Given the description of an element on the screen output the (x, y) to click on. 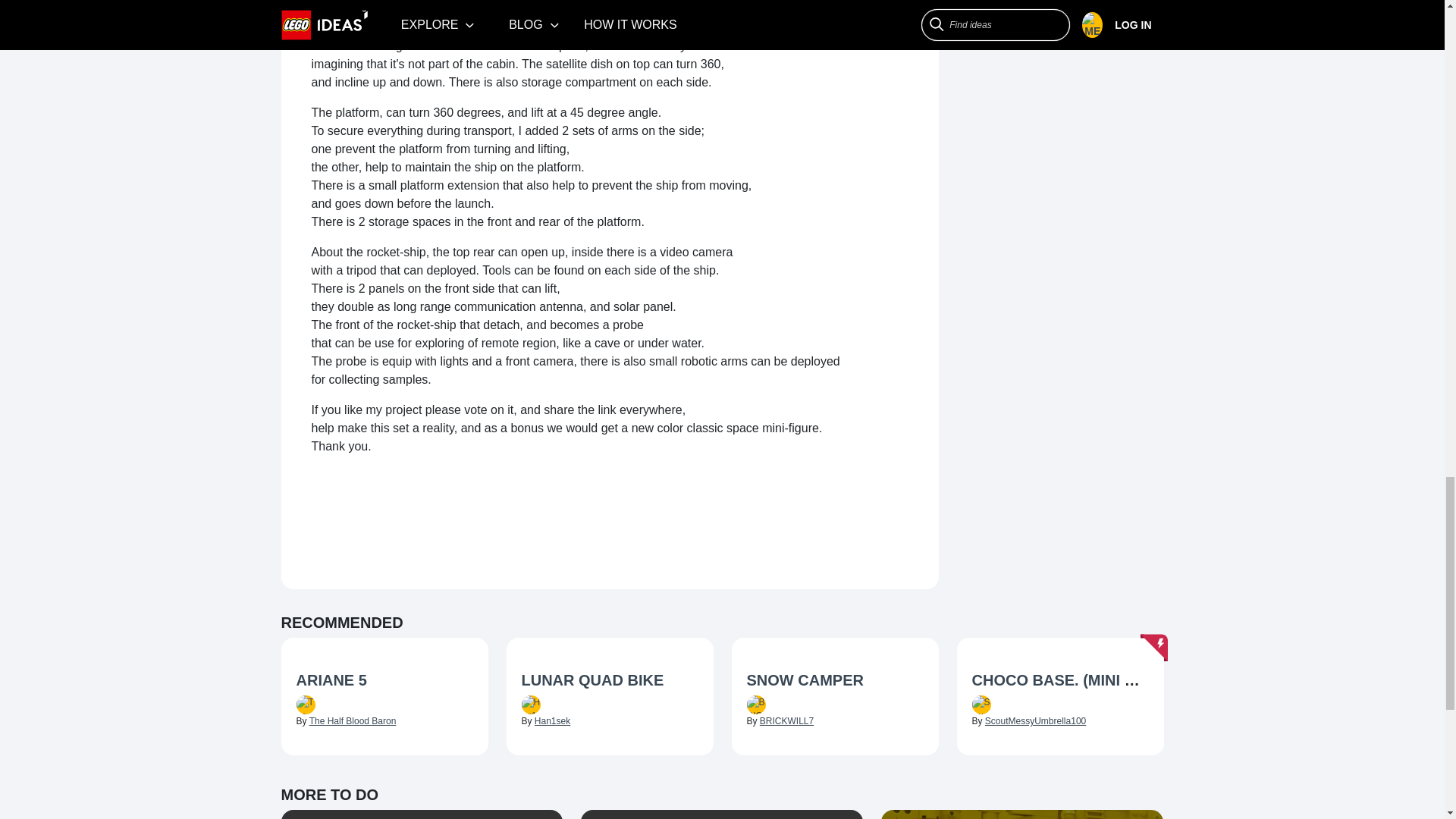
Ariane 5 (383, 681)
Lunar Quad Bike (609, 681)
The Half Blood Baron (352, 720)
LUNAR QUAD BIKE (592, 679)
Snow Camper (834, 681)
ARIANE 5 (330, 679)
